Given the description of an element on the screen output the (x, y) to click on. 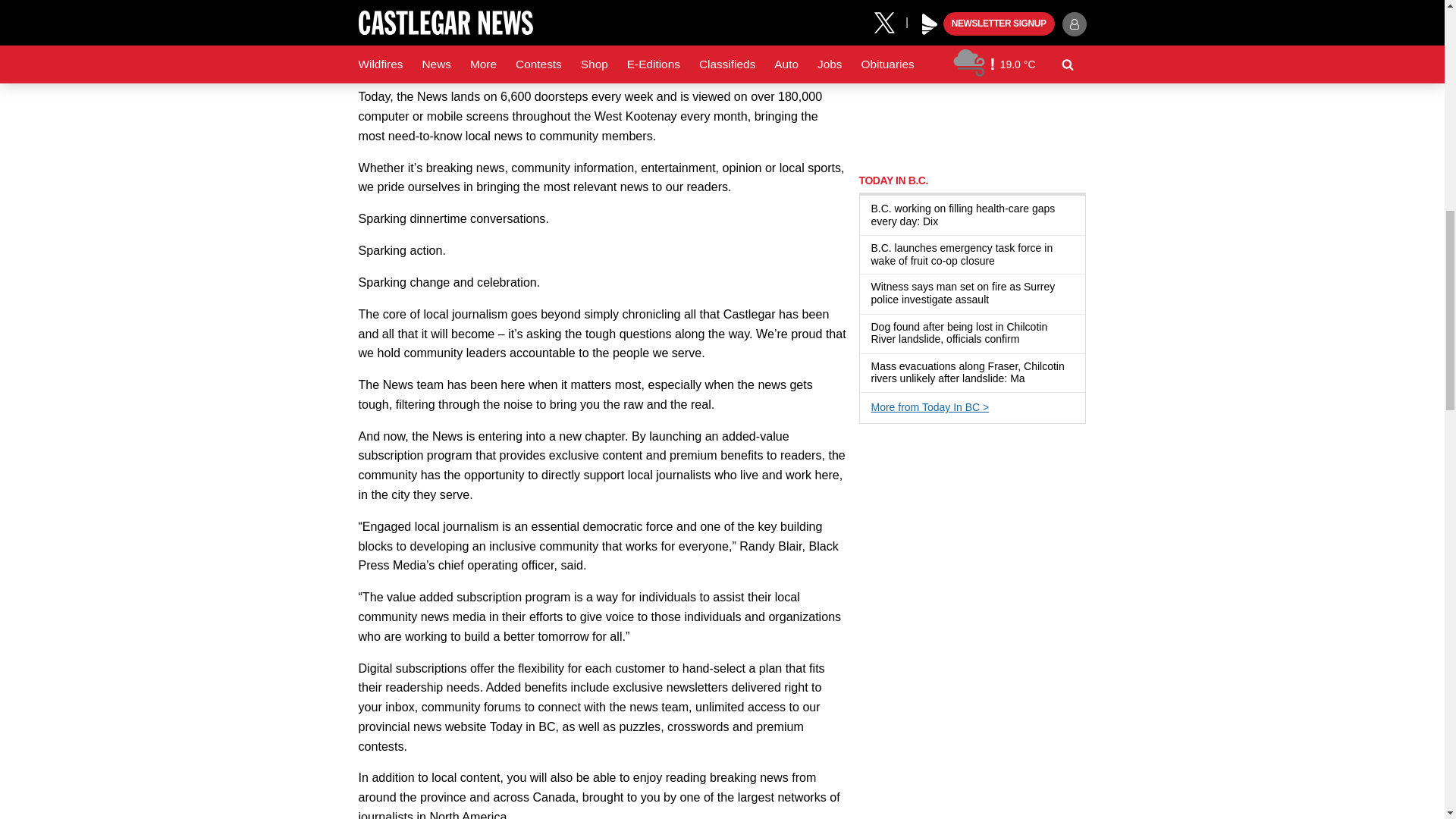
Has a gallery (1027, 340)
Has a gallery (997, 300)
